Given the description of an element on the screen output the (x, y) to click on. 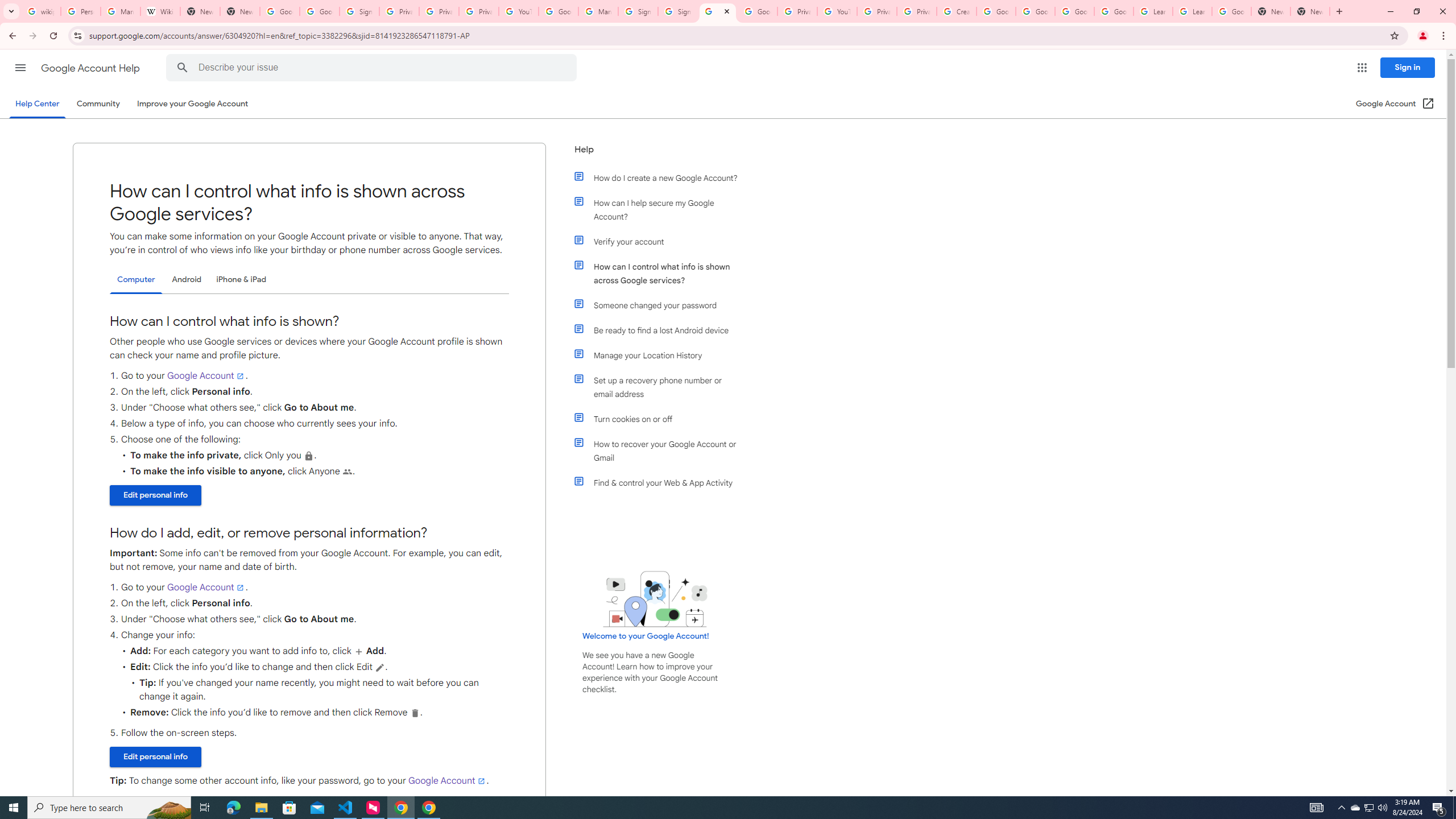
Personalization & Google Search results - Google Search Help (80, 11)
Edit personal info (155, 756)
Wikipedia:Edit requests - Wikipedia (159, 11)
Google Account Help (557, 11)
How can I control what info is shown across Google services? (661, 273)
Describe your issue (373, 67)
Search Help Center (181, 67)
Be ready to find a lost Android device (661, 330)
Learning Center home page image (655, 598)
Community (97, 103)
People (347, 471)
